Given the description of an element on the screen output the (x, y) to click on. 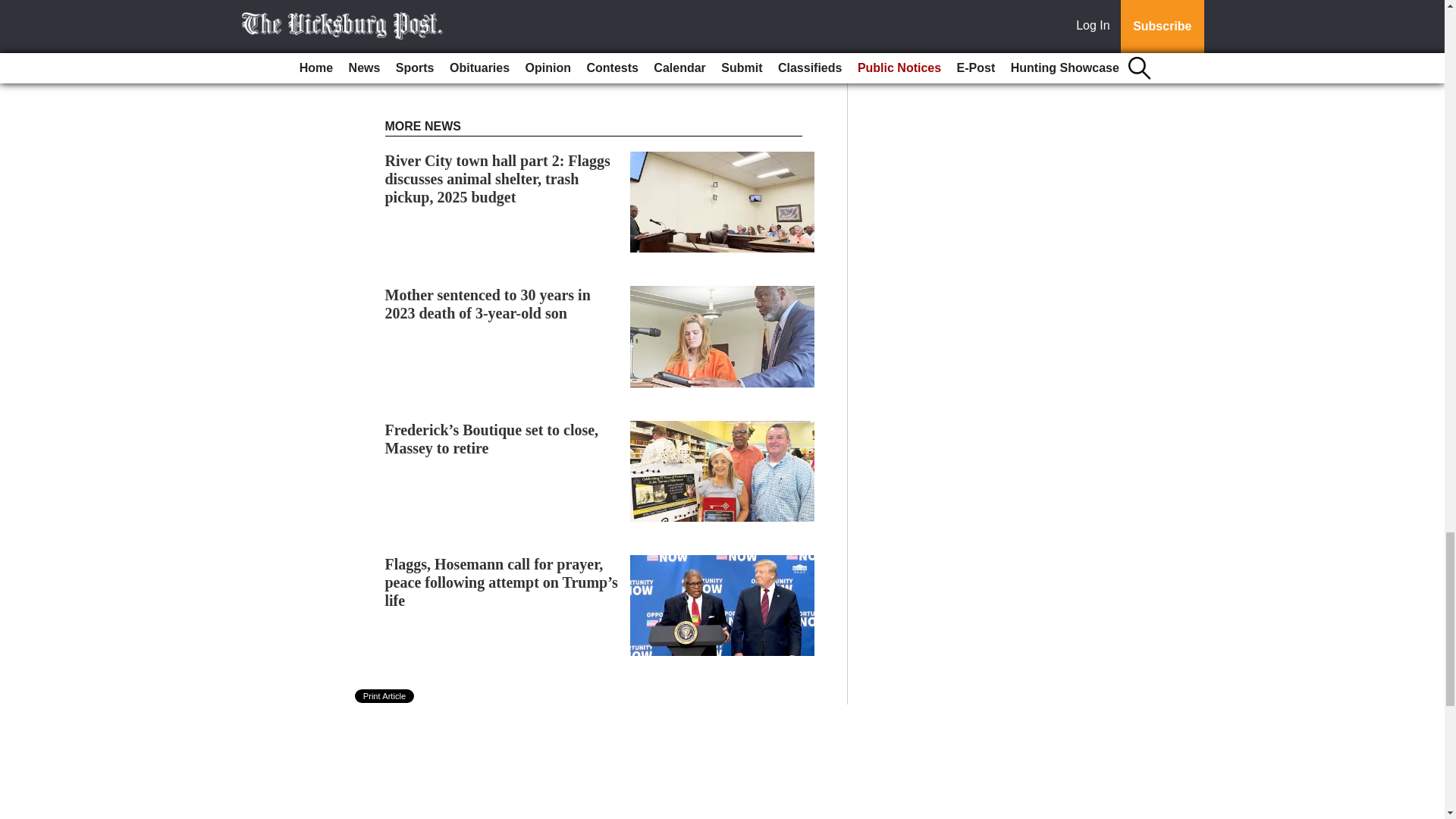
Mother sentenced to 30 years in 2023 death of 3-year-old son (488, 303)
Mother sentenced to 30 years in 2023 death of 3-year-old son (488, 303)
